Given the description of an element on the screen output the (x, y) to click on. 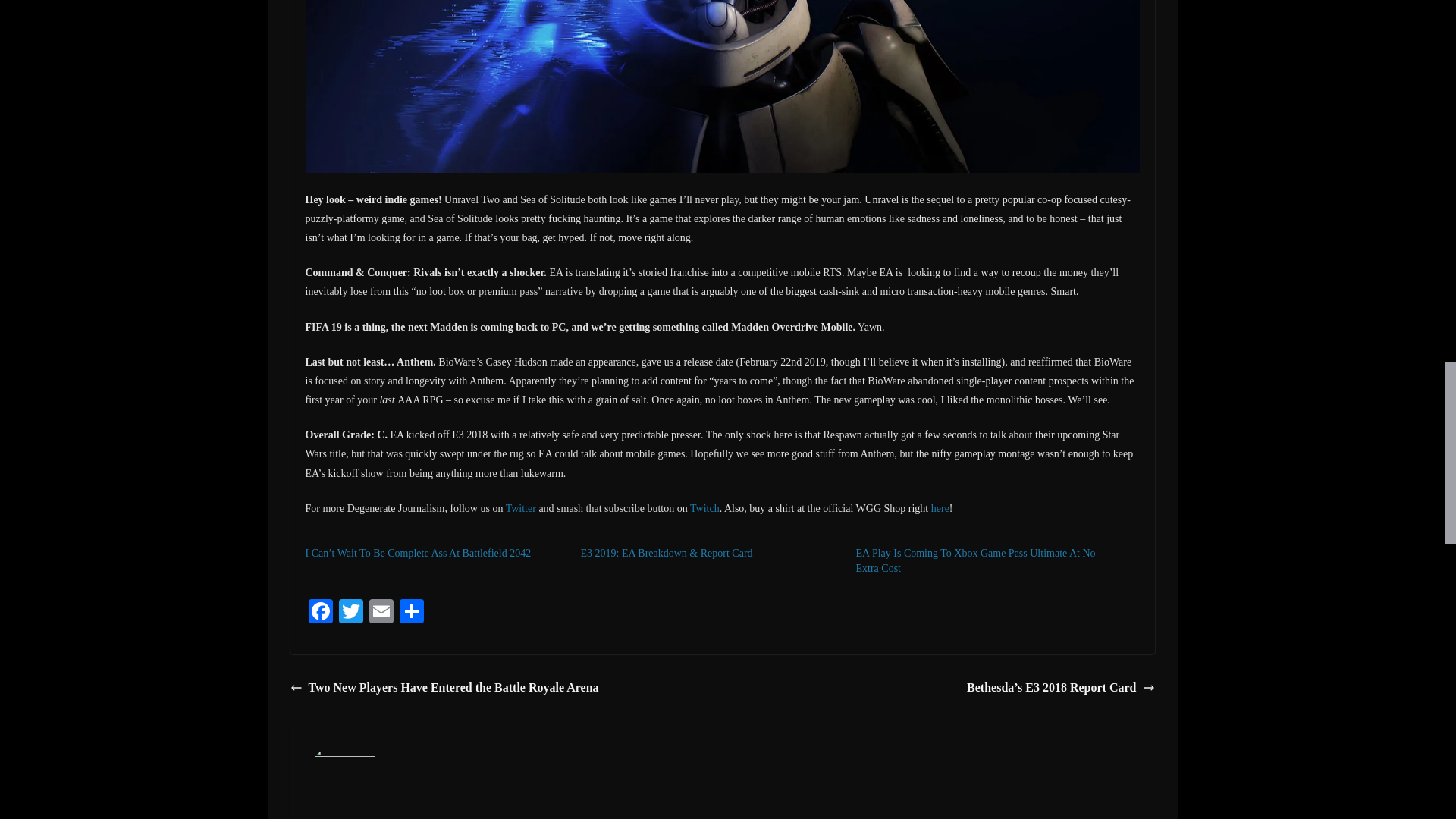
Facebook (319, 612)
Twitter (349, 612)
Two New Players Have Entered the Battle Royale Arena (443, 688)
Twitter (349, 612)
here (940, 508)
Twitter (520, 508)
Email (380, 612)
Twitch (704, 508)
Email (380, 612)
Facebook (319, 612)
